Given the description of an element on the screen output the (x, y) to click on. 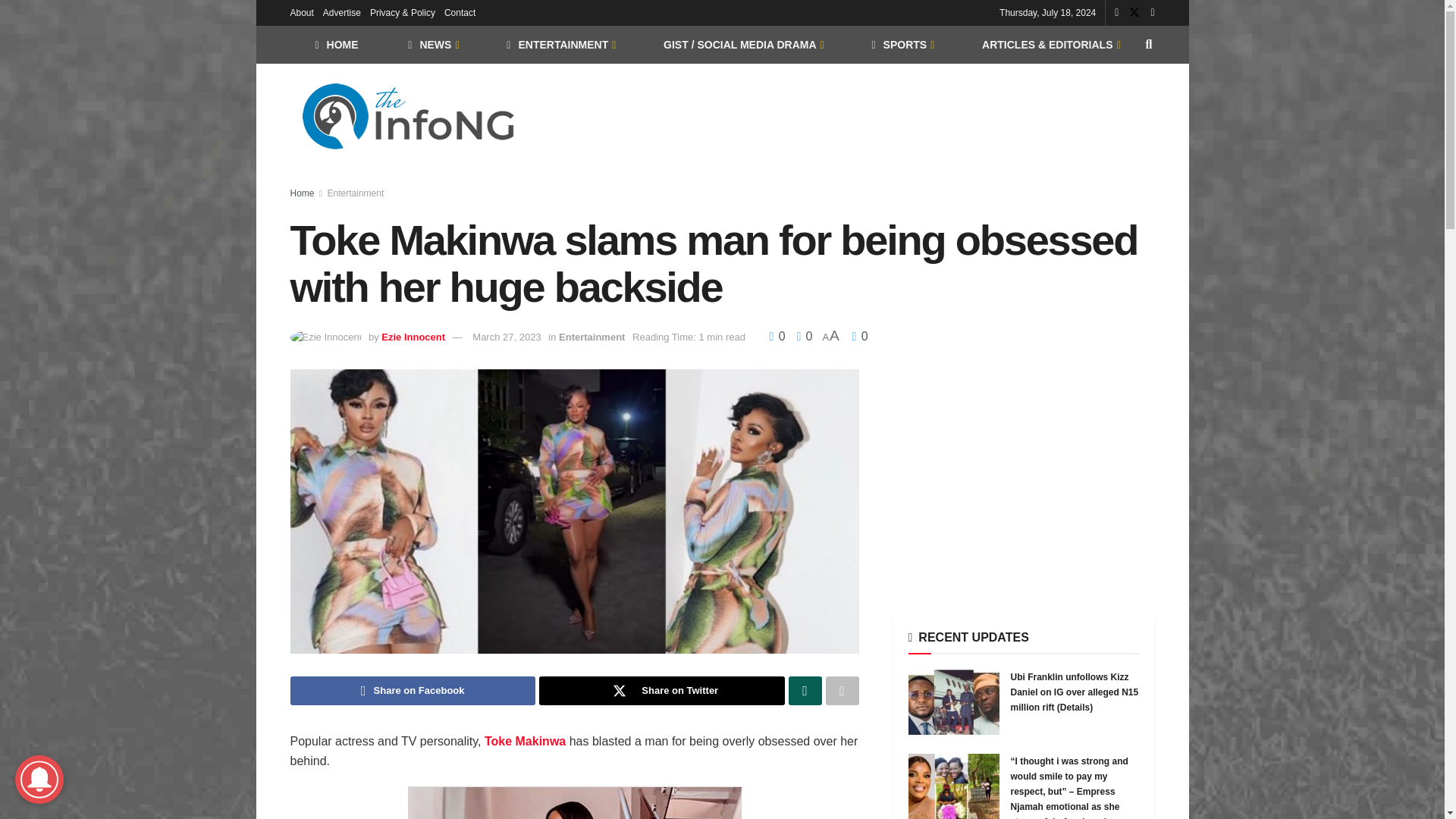
About (301, 12)
NEWS (431, 44)
Advertisement (1023, 475)
Advertisement (878, 114)
Contact (460, 12)
Advertise (342, 12)
ENTERTAINMENT (560, 44)
HOME (335, 44)
Sport (902, 44)
